Given the description of an element on the screen output the (x, y) to click on. 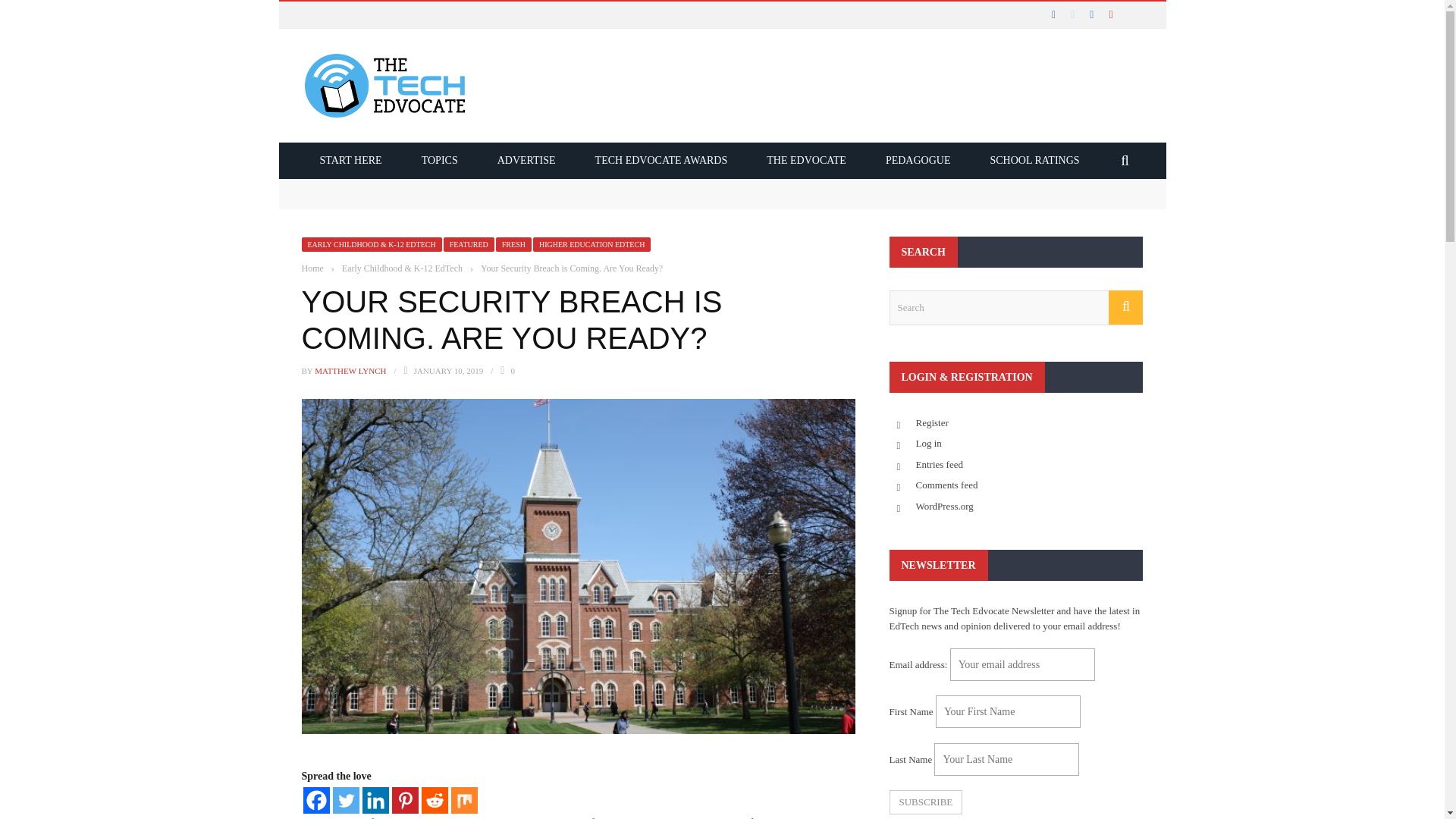
Search (1015, 307)
Reddit (435, 800)
Mix (463, 800)
Pinterest (404, 800)
Linkedin (375, 800)
Twitter (344, 800)
Subscribe (925, 802)
Facebook (316, 800)
